Given the description of an element on the screen output the (x, y) to click on. 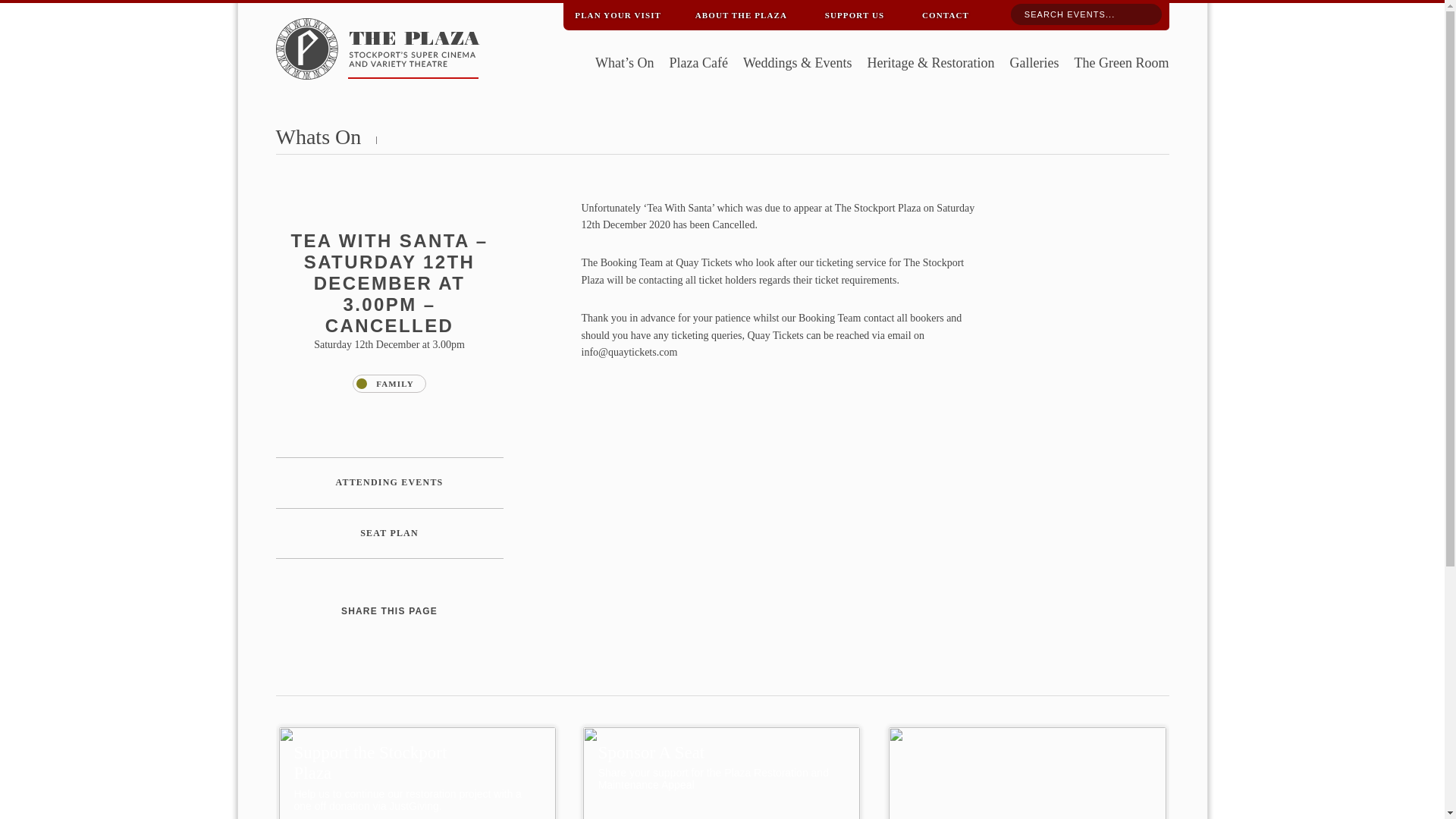
CONTACT (945, 12)
FAMILY (388, 383)
SUPPORT US (854, 12)
PLAN YOUR VISIT (617, 12)
Galleries (1034, 64)
The Green Room (1121, 64)
SEAT PLAN (389, 533)
Whats On (318, 136)
ABOUT THE PLAZA (740, 12)
ATTENDING EVENTS (389, 482)
